Given the description of an element on the screen output the (x, y) to click on. 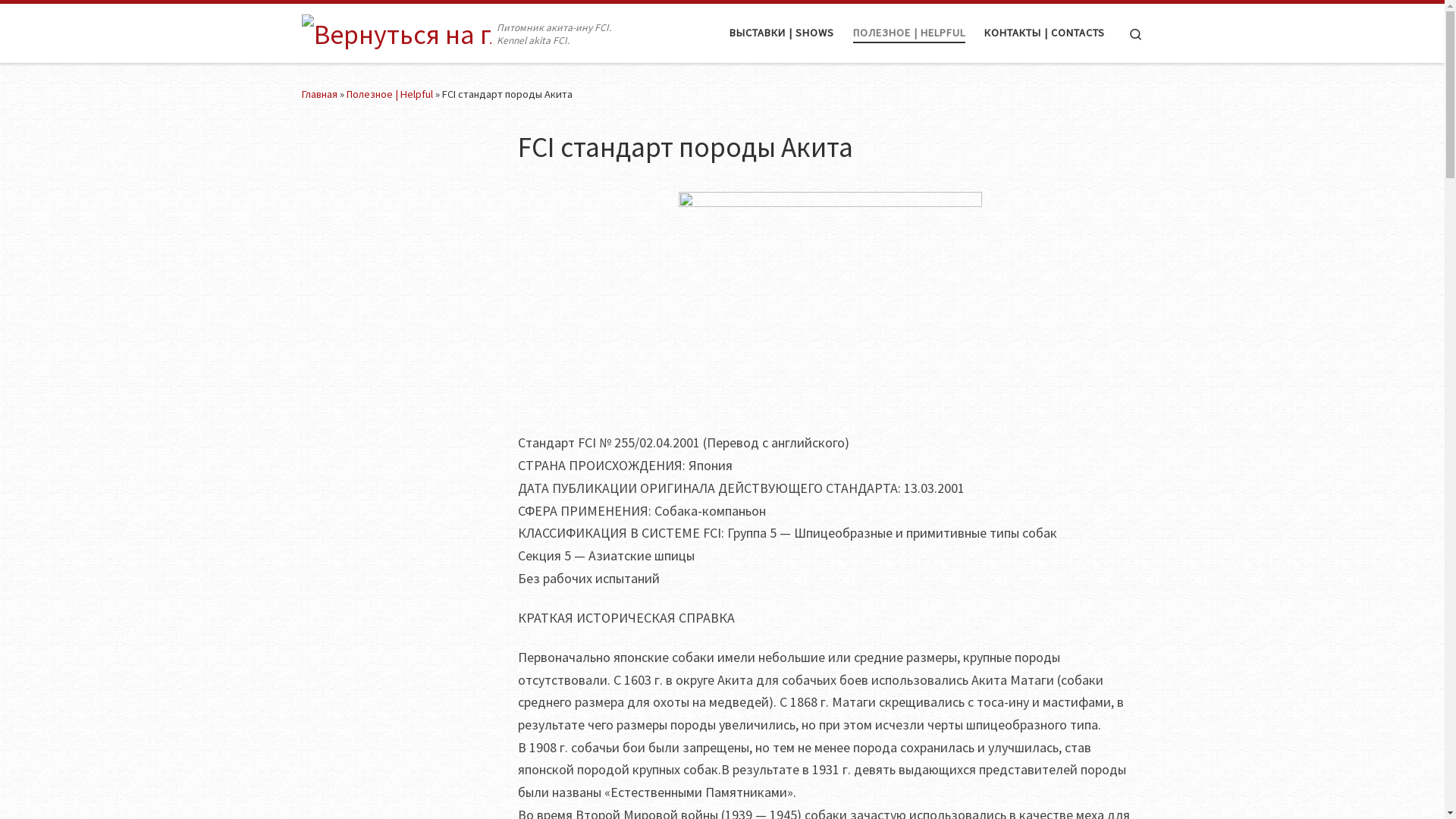
Search Element type: text (1135, 33)
